Given the description of an element on the screen output the (x, y) to click on. 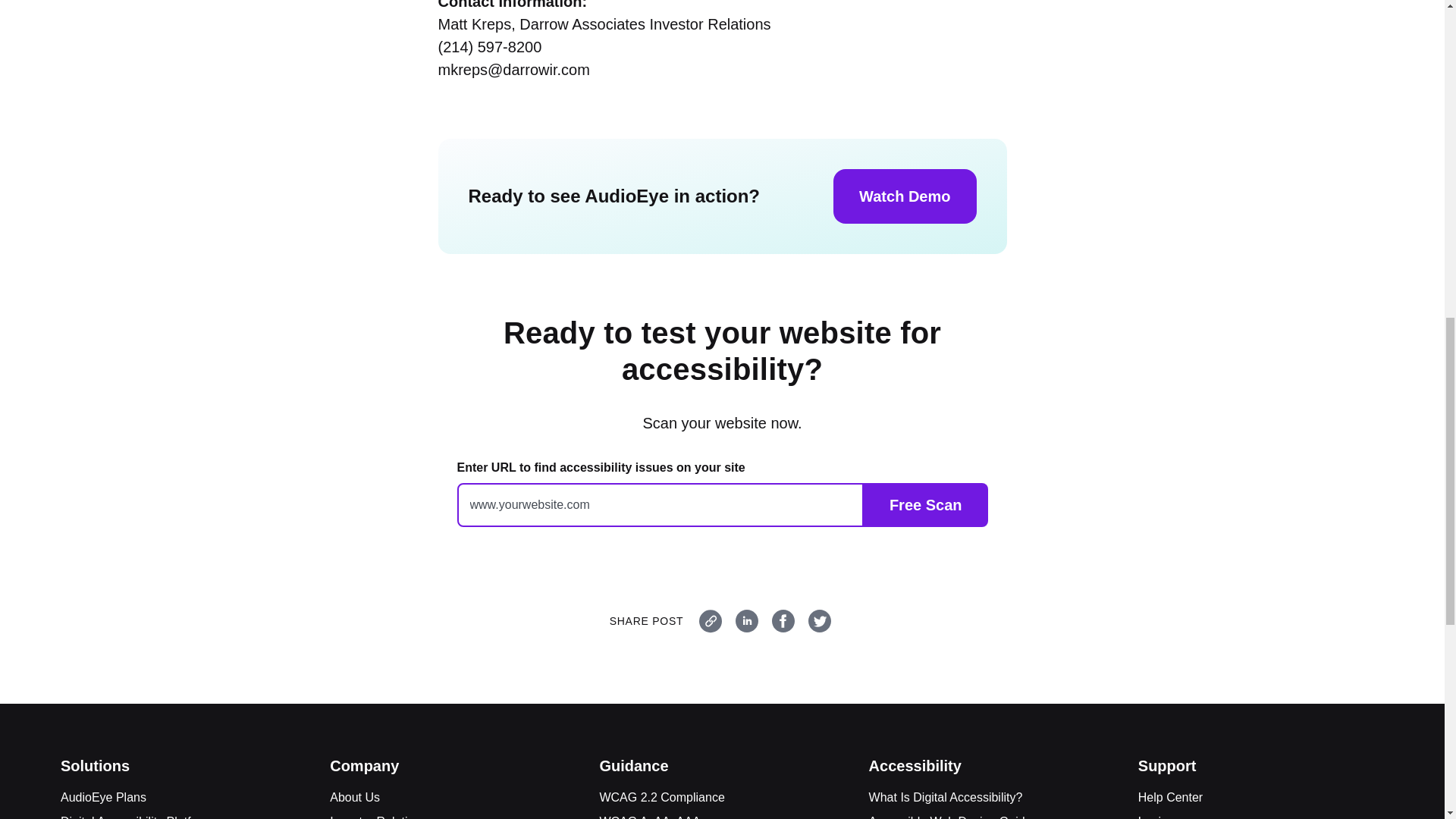
Free Scan (925, 505)
Watch Demo (903, 195)
